Given the description of an element on the screen output the (x, y) to click on. 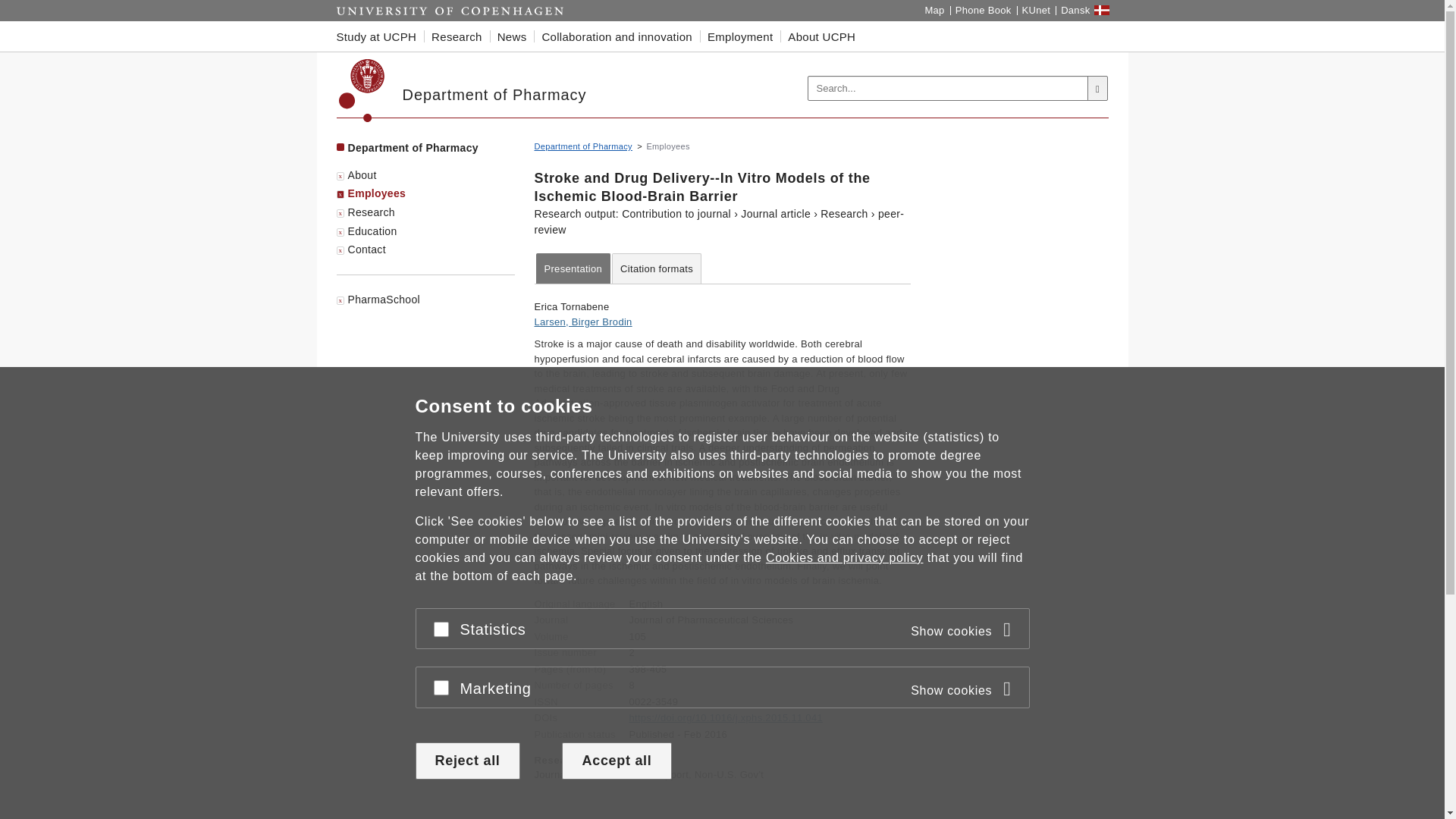
Start (450, 10)
